Given the description of an element on the screen output the (x, y) to click on. 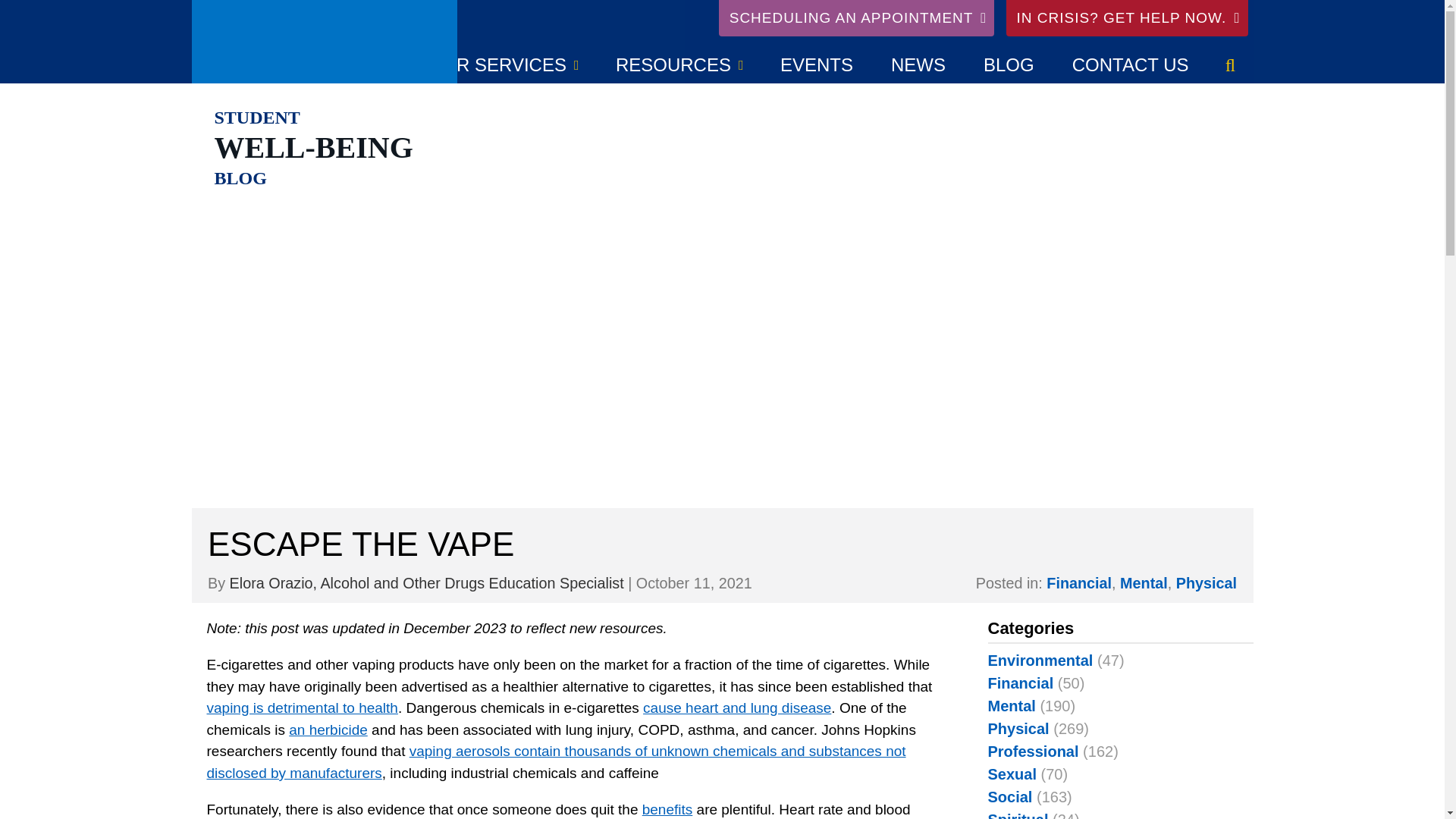
IN CRISIS? GET HELP NOW. (1126, 18)
cause heart and lung disease (737, 707)
BLOG (240, 174)
Financial (1079, 582)
Mental (1143, 582)
OUR SERVICES (503, 64)
Johns Hopkins University Student Well-Being (323, 41)
Physical (1206, 582)
EVENTS (816, 64)
